Given the description of an element on the screen output the (x, y) to click on. 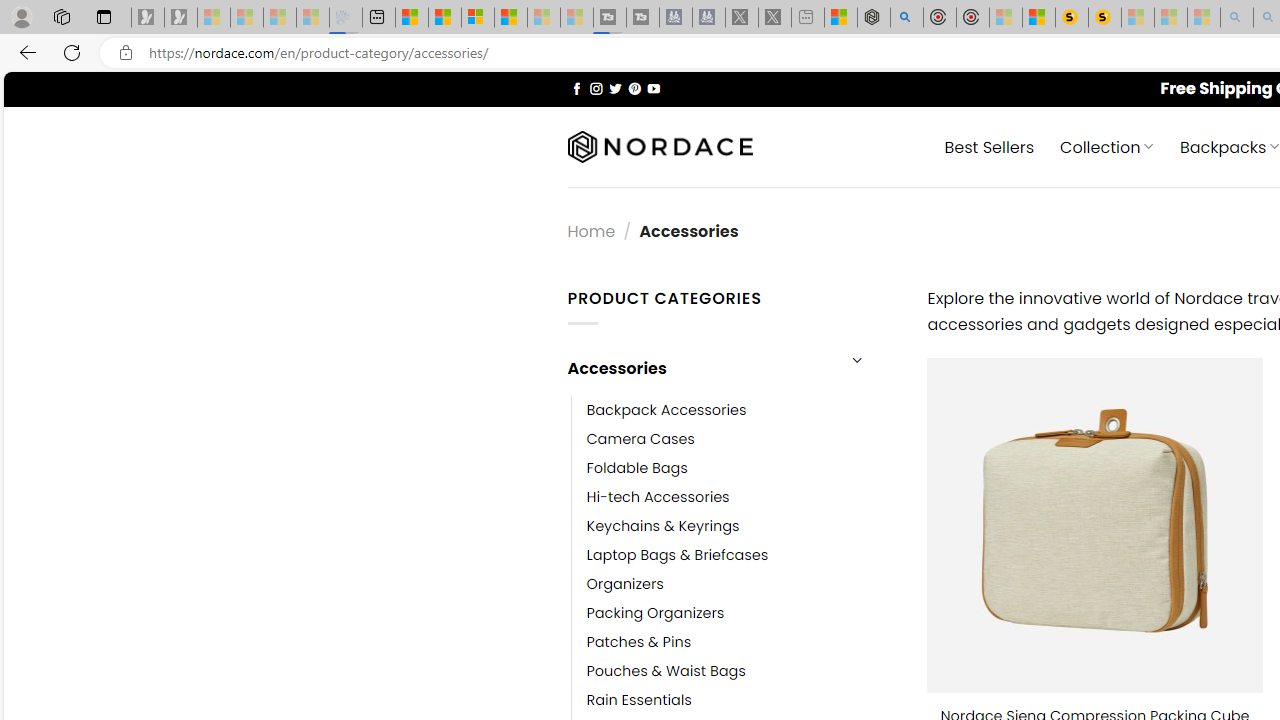
Hi-tech Accessories (742, 496)
  Best Sellers (989, 146)
Laptop Bags & Briefcases (742, 555)
Follow on Pinterest (634, 88)
Pouches & Waist Bags (666, 671)
